Given the description of an element on the screen output the (x, y) to click on. 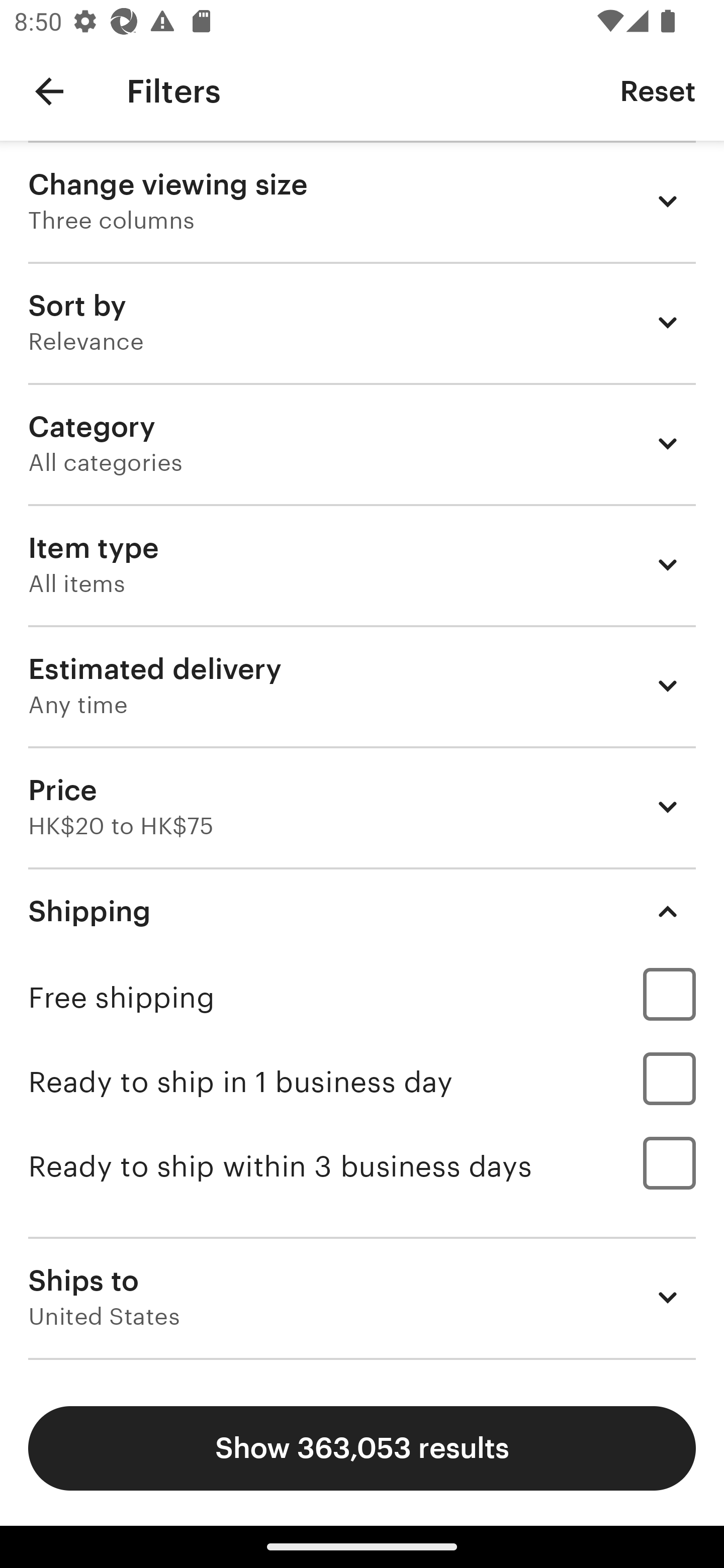
Navigate up (49, 91)
Reset (657, 90)
Change viewing size Three columns (362, 201)
Sort by Relevance (362, 321)
Category All categories (362, 442)
Item type All items (362, 564)
Estimated delivery Any time (362, 685)
Price HK$20 to HK$75 (362, 806)
Shipping (362, 910)
Free shipping (362, 996)
Ready to ship in 1 business day (362, 1081)
Ready to ship within 3 business days (362, 1166)
Ships to United States (362, 1297)
Show 363,053 results Show results (361, 1448)
